Given the description of an element on the screen output the (x, y) to click on. 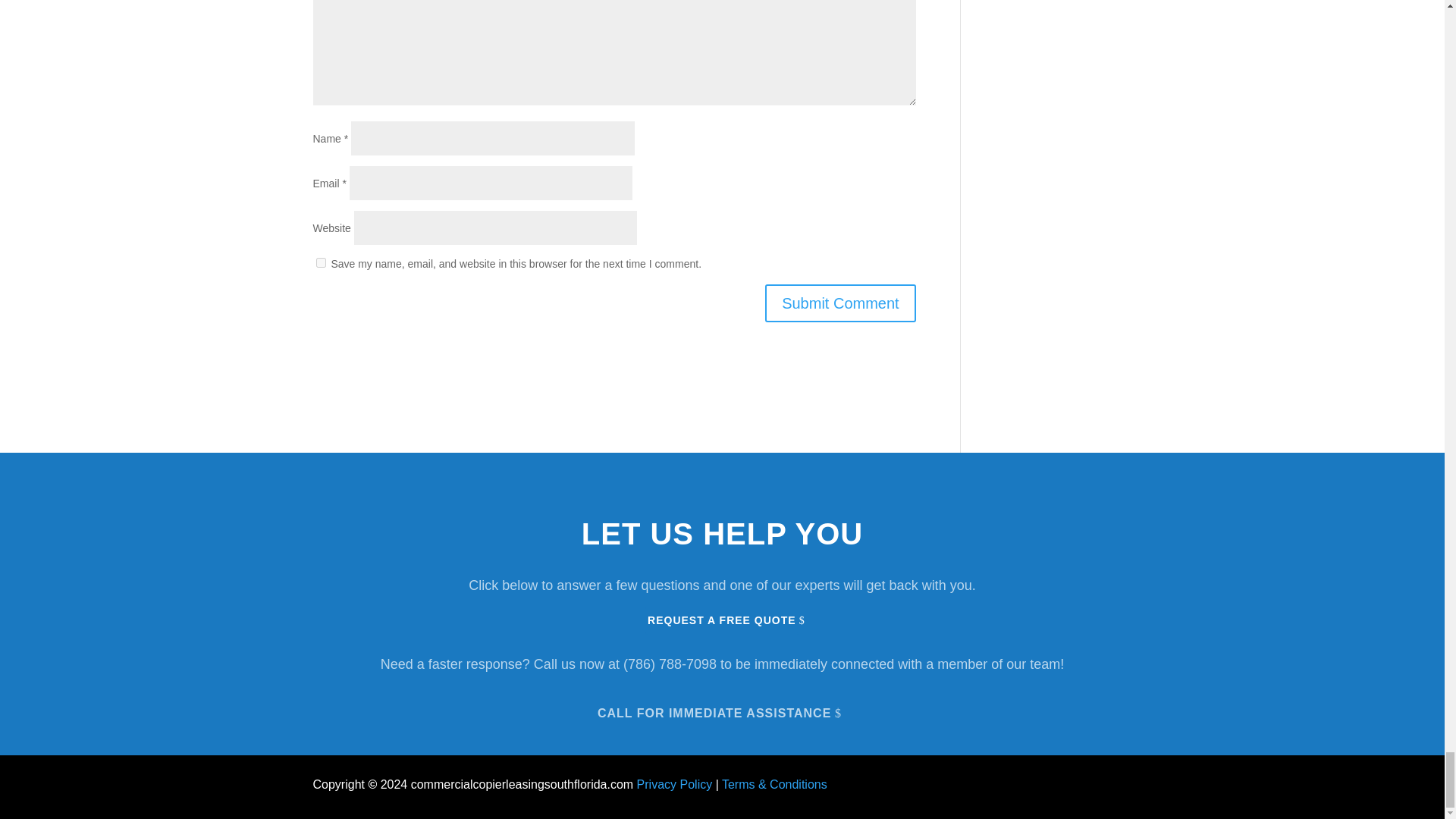
CALL FOR IMMEDIATE ASSISTANCE (721, 711)
REQUEST A FREE QUOTE (721, 619)
Privacy Policy (675, 784)
Submit Comment (840, 303)
Submit Comment (840, 303)
yes (319, 262)
